Given the description of an element on the screen output the (x, y) to click on. 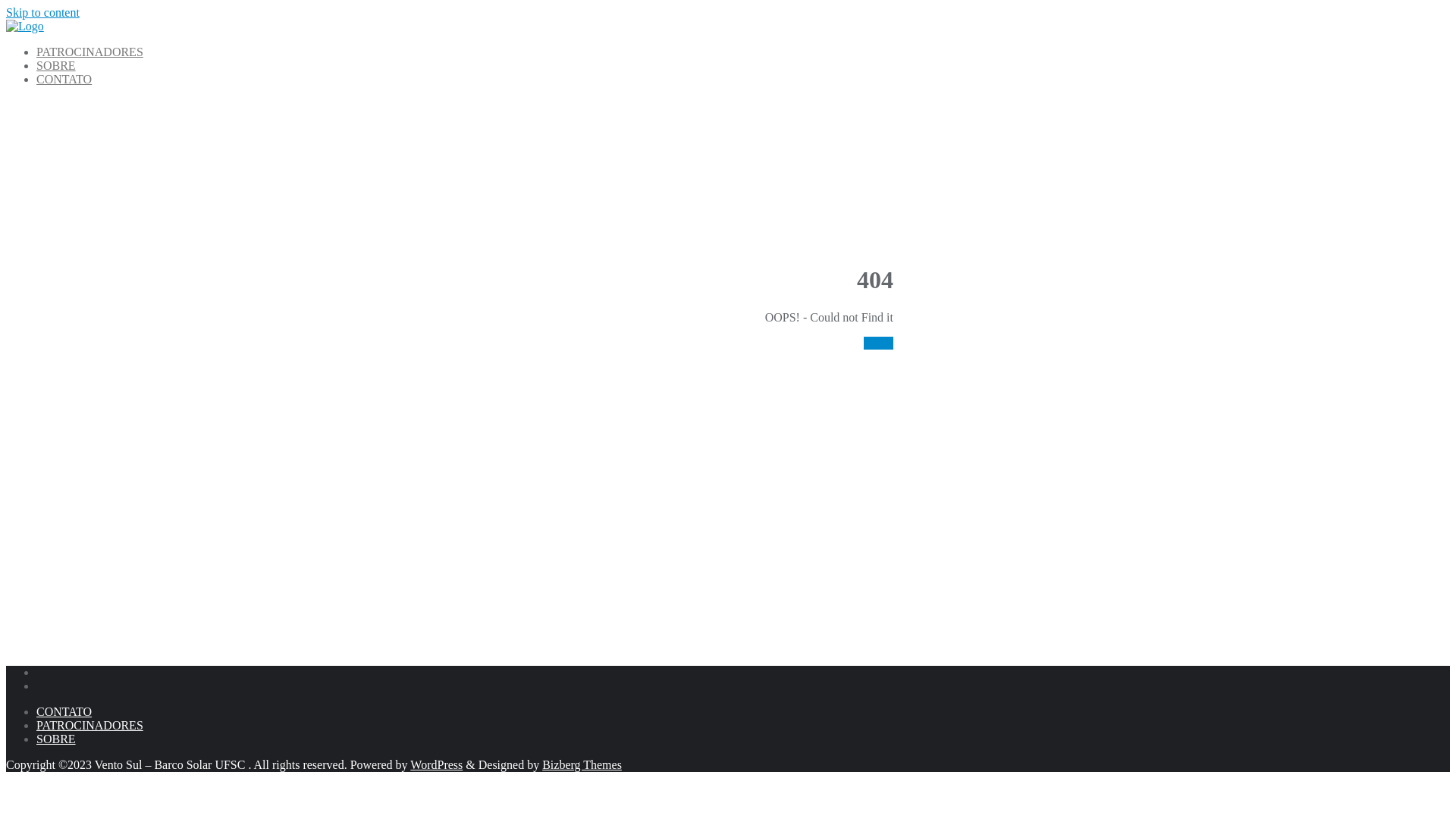
SOBRE Element type: text (55, 738)
Bizberg Themes Element type: text (581, 764)
PATROCINADORES Element type: text (89, 724)
WordPress Element type: text (436, 764)
CONTATO Element type: text (63, 78)
PATROCINADORES Element type: text (89, 51)
Skip to content Element type: text (42, 12)
SOBRE Element type: text (55, 65)
Home Element type: text (878, 342)
CONTATO Element type: text (63, 711)
